Given the description of an element on the screen output the (x, y) to click on. 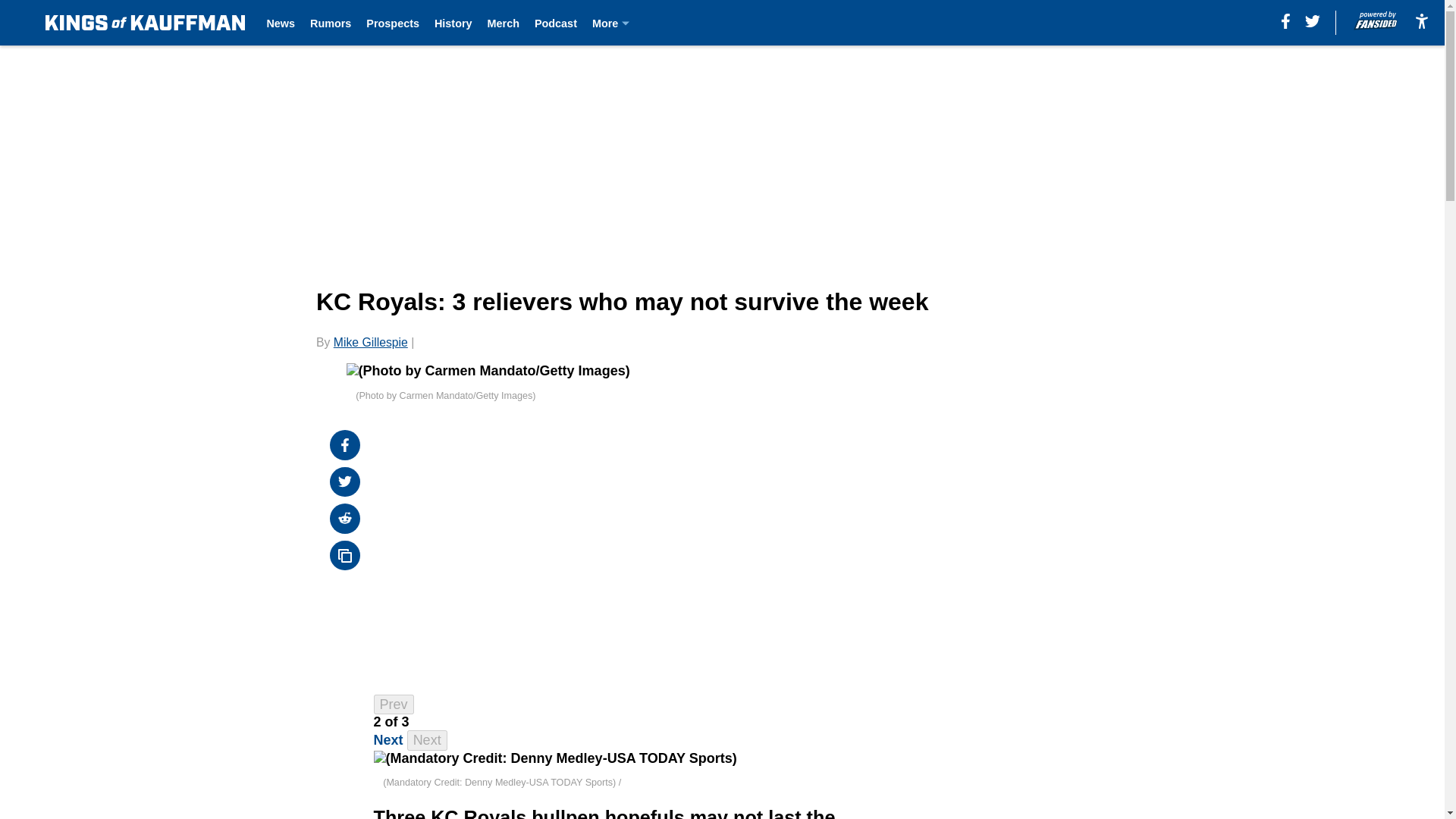
Merch (503, 23)
Podcast (555, 23)
News (280, 23)
Prev (393, 704)
History (452, 23)
Rumors (330, 23)
Next (426, 740)
Mike Gillespie (370, 341)
Prospects (392, 23)
Next (388, 739)
